Given the description of an element on the screen output the (x, y) to click on. 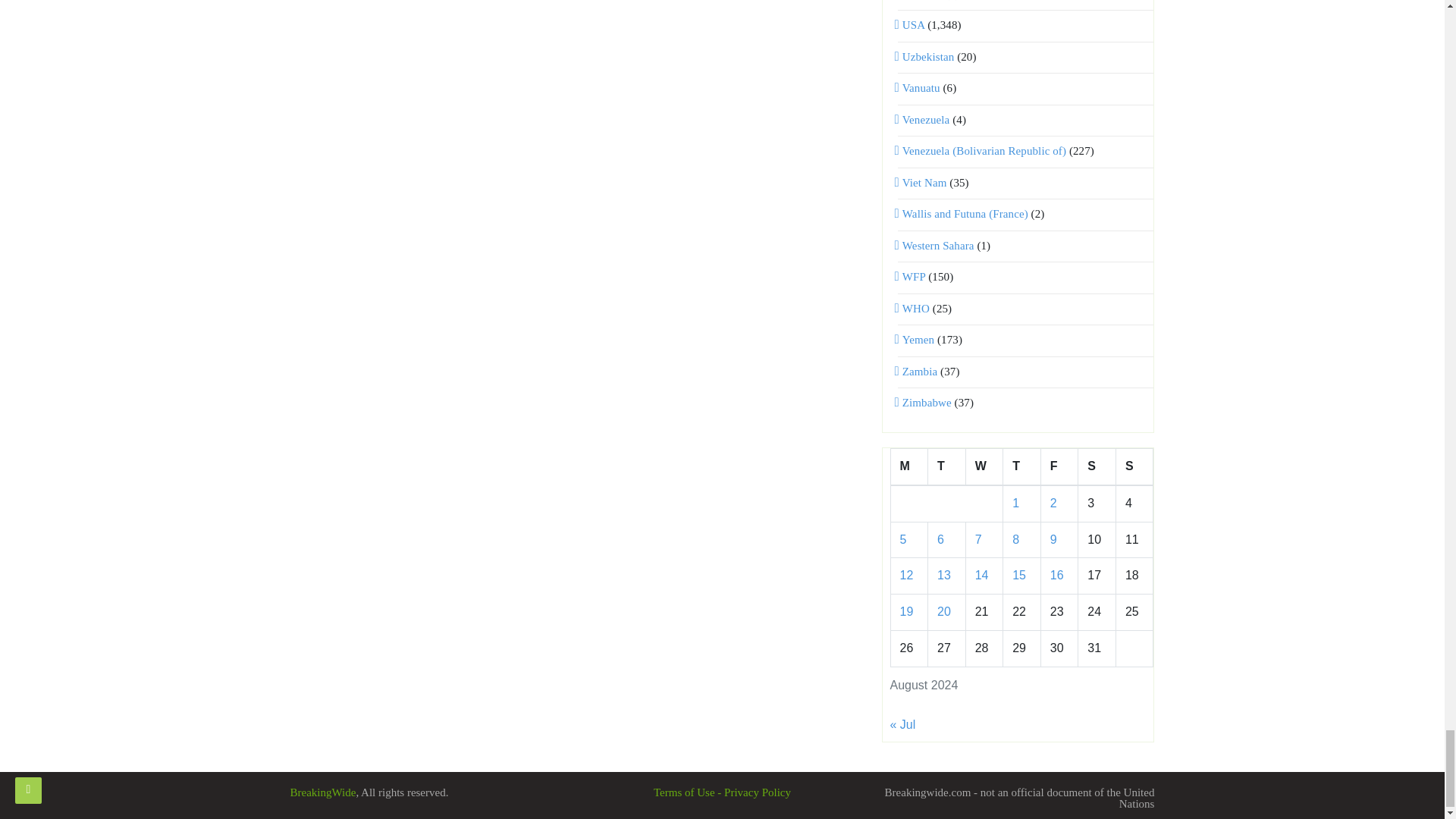
Thursday (1022, 465)
Wednesday (984, 465)
Monday (908, 465)
Tuesday (947, 465)
Friday (1059, 465)
Sunday (1134, 465)
Saturday (1097, 465)
